Given the description of an element on the screen output the (x, y) to click on. 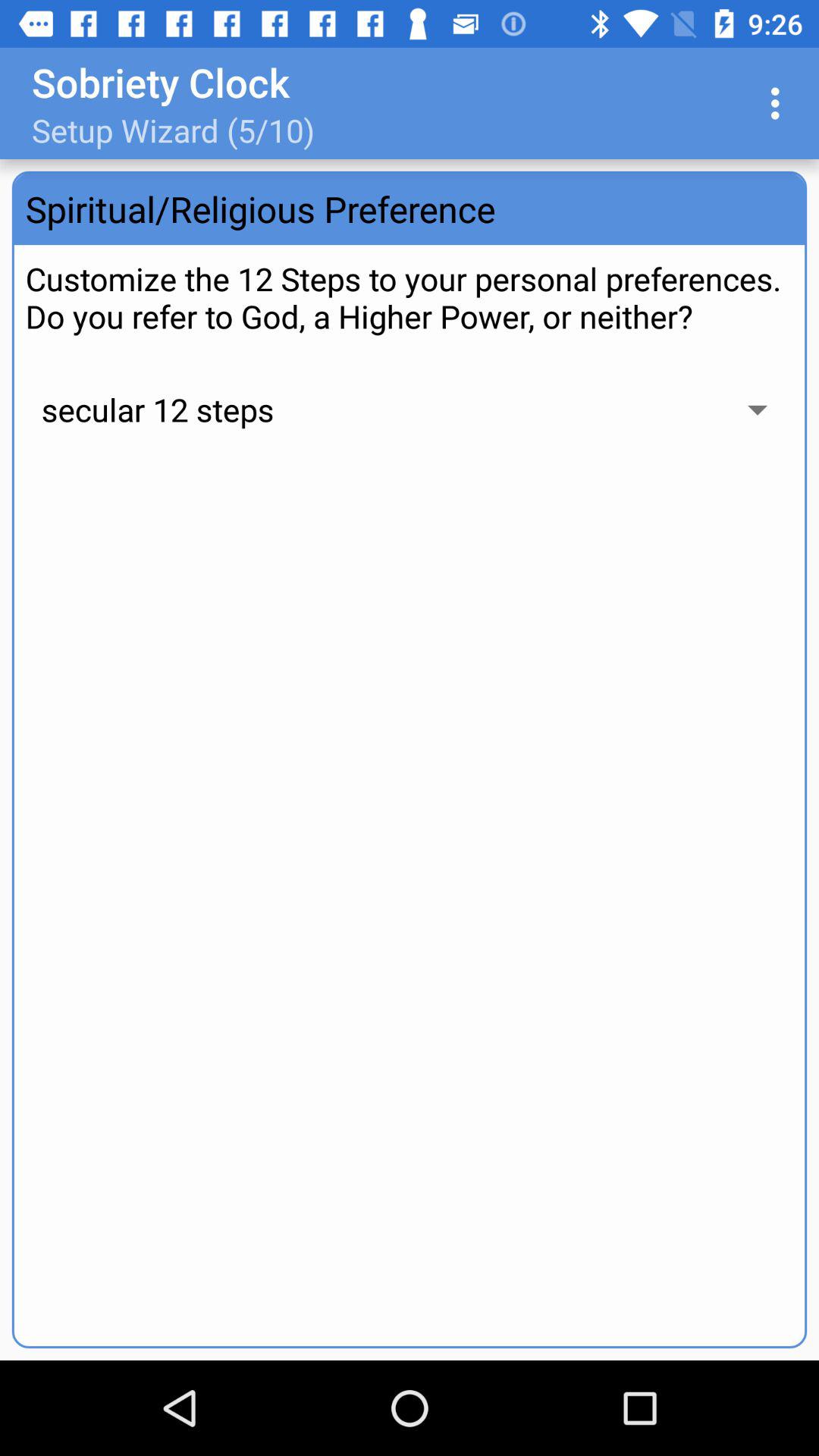
click icon above the spiritual/religious preference (779, 103)
